Given the description of an element on the screen output the (x, y) to click on. 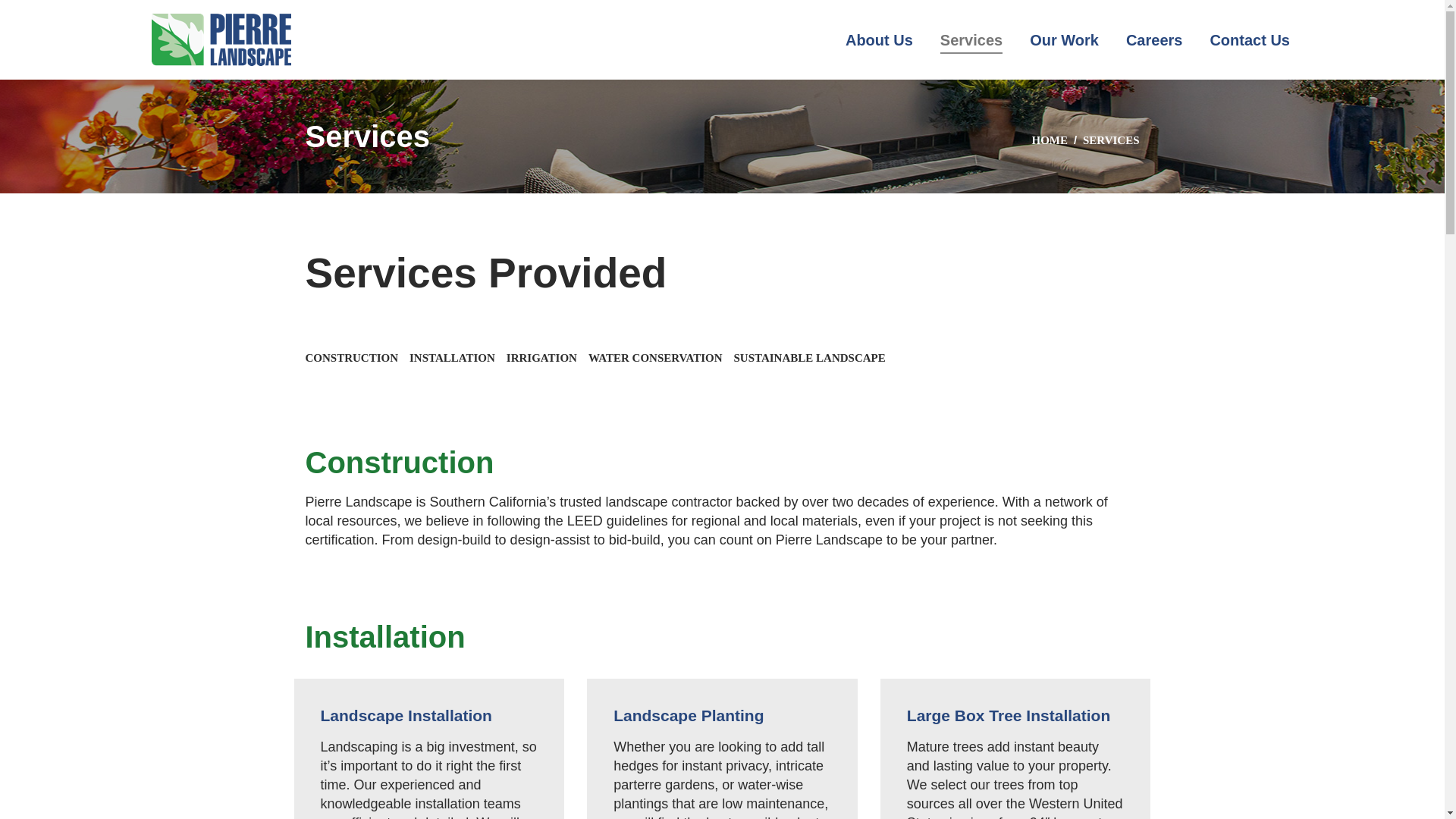
Construction (350, 357)
Services (971, 39)
About Us (879, 39)
CONSTRUCTION (350, 357)
Contact Us (1249, 39)
Careers (1154, 39)
Services (971, 39)
INSTALLATION (452, 357)
IRRIGATION (541, 357)
HOME (1048, 139)
Our Work (1064, 39)
SUSTAINABLE LANDSCAPE (809, 357)
Our Work (1064, 39)
About Us (879, 39)
WATER CONSERVATION (655, 357)
